Given the description of an element on the screen output the (x, y) to click on. 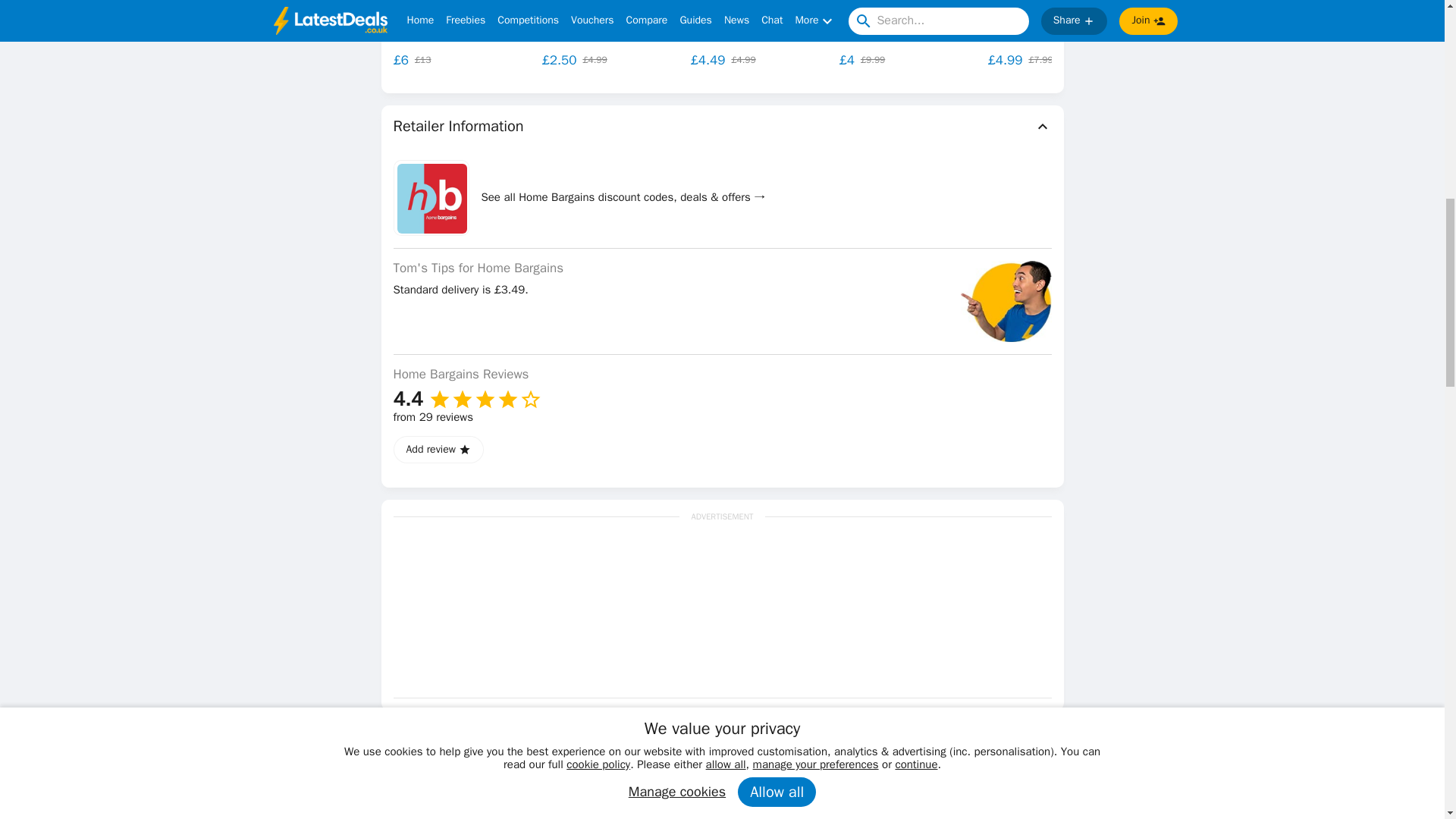
Retailer Information (722, 126)
